Given the description of an element on the screen output the (x, y) to click on. 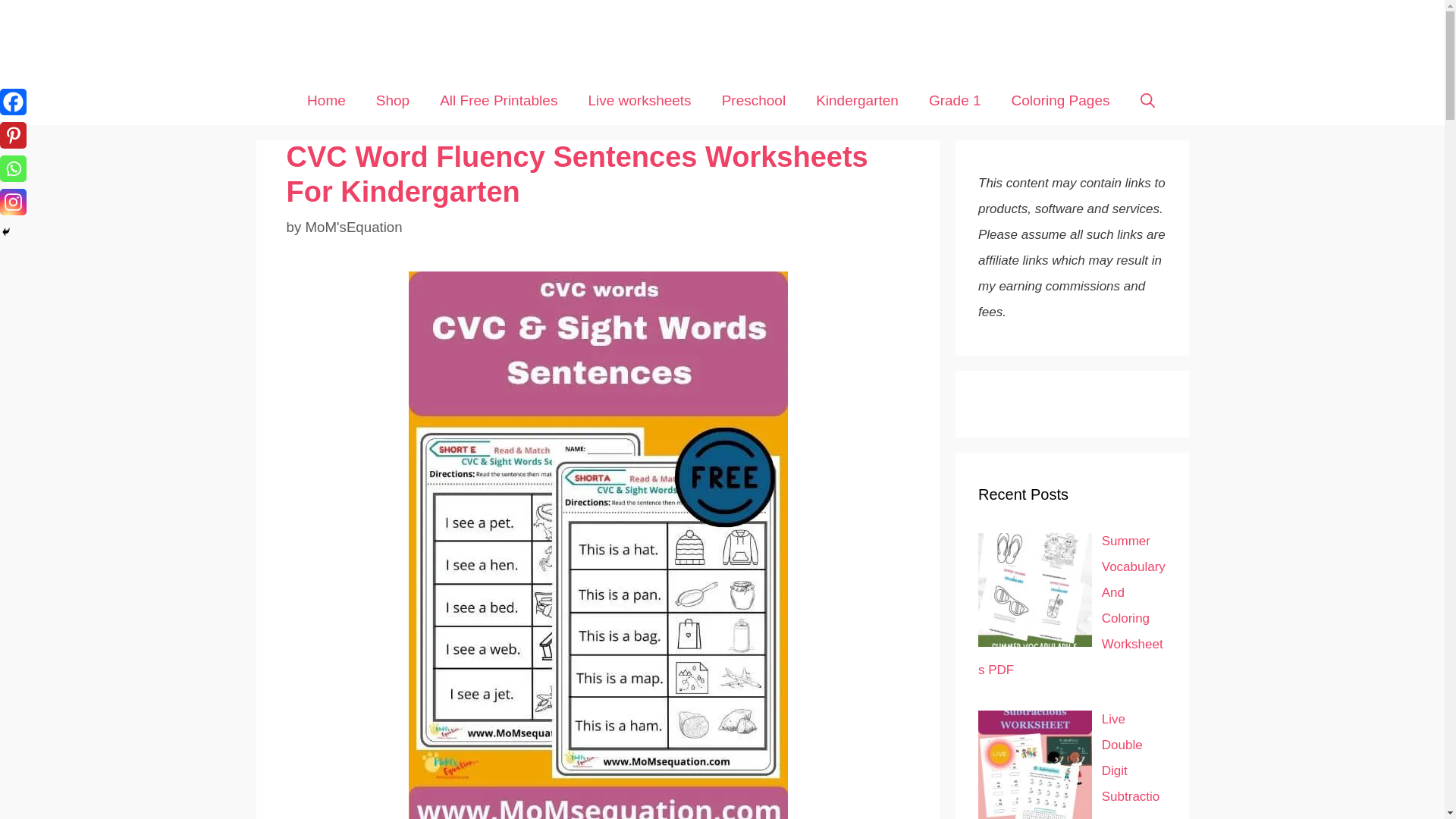
Grade 1 (954, 100)
Preschool (754, 100)
Coloring Pages (1060, 100)
Kindergarten (857, 100)
All Free Printables (498, 100)
View all posts by MoM'sEquation (352, 227)
Home (326, 100)
Live worksheets (639, 100)
Shop (393, 100)
MoM'sEquation (352, 227)
